Given the description of an element on the screen output the (x, y) to click on. 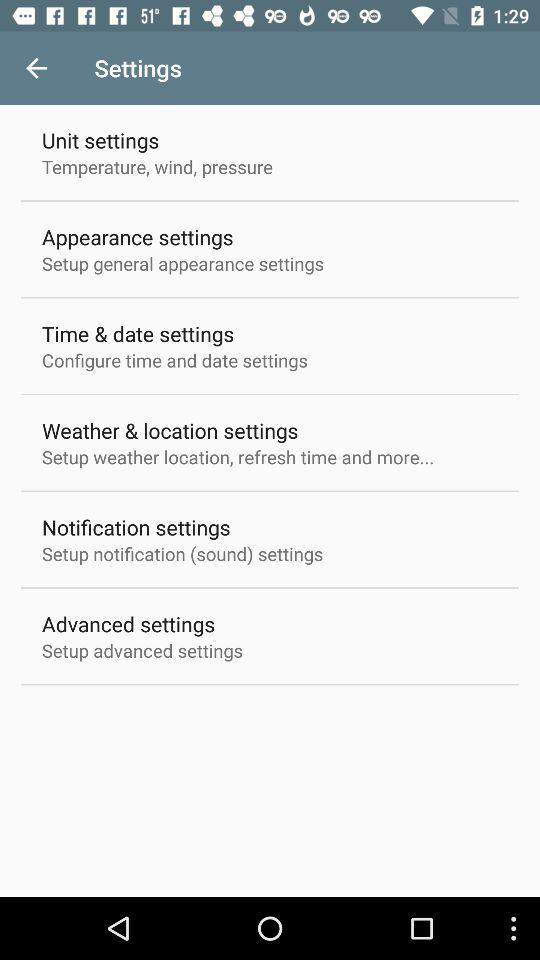
tap the item below the notification settings (182, 553)
